Given the description of an element on the screen output the (x, y) to click on. 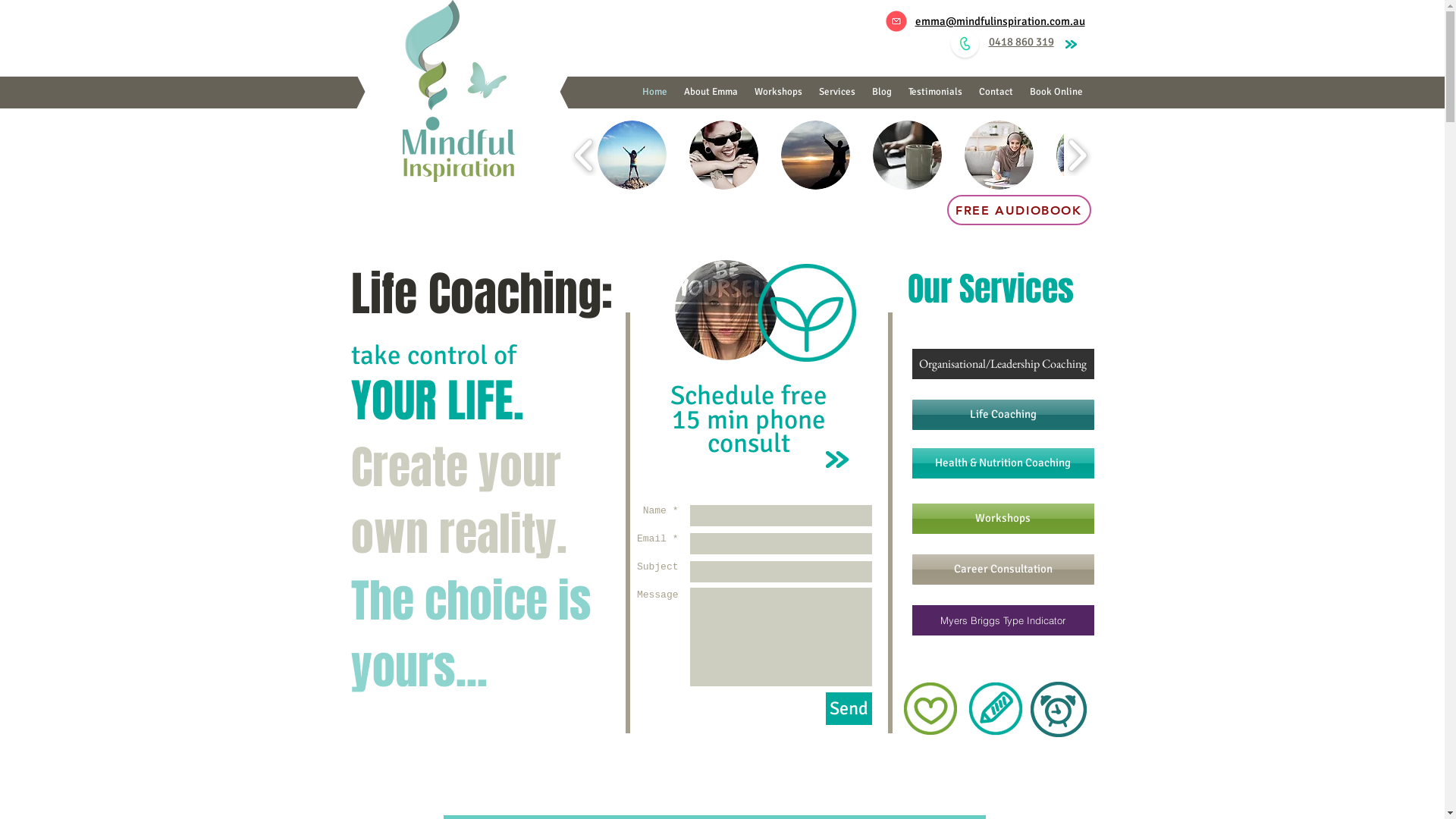
Organisational/Leadership Coaching Element type: text (1002, 363)
Workshops Element type: text (778, 91)
emma@mindfulinspiration.com.au Element type: text (999, 21)
Send Element type: text (848, 708)
Myers Briggs Type Indicator Element type: text (1002, 620)
Social Media Icons Element type: hover (798, 27)
Coaching for over ten years Element type: hover (725, 310)
Life Coaching Element type: text (1002, 414)
Facebook Like Element type: hover (444, 761)
About Emma Element type: text (709, 91)
FREE AUDIOBOOK Element type: text (1018, 209)
0418 860 319 Element type: text (1021, 41)
Contact Element type: text (995, 91)
Workshops Element type: text (1002, 518)
Home Element type: text (654, 91)
Testimonials Element type: text (934, 91)
Blog Element type: text (880, 91)
Book Online Element type: text (1055, 91)
Career Consultation Element type: text (1002, 569)
